Given the description of an element on the screen output the (x, y) to click on. 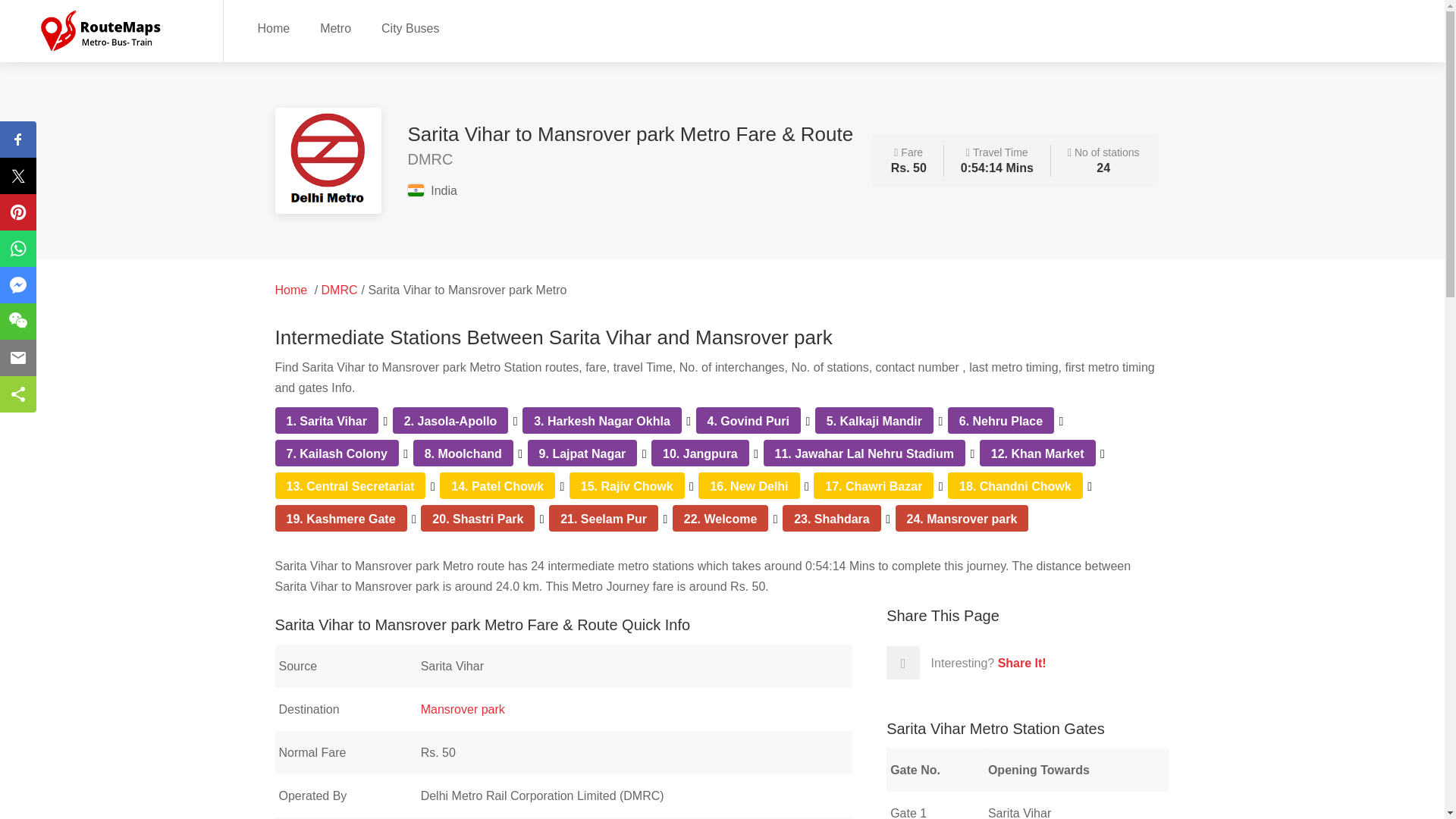
11. Jawahar Lal Nehru Stadium (864, 453)
17. Chawri Bazar (873, 486)
Home (273, 28)
16. New Delhi (748, 486)
14. Patel Chowk (497, 486)
Mansrover park (462, 708)
19. Kashmere Gate (341, 518)
9. Lajpat Nagar (582, 453)
Home (291, 289)
13. Central Secretariat (350, 486)
20. Shastri Park (477, 518)
10. Jangpura (700, 453)
23. Shahdara (831, 518)
6. Nehru Place (1000, 420)
21. Seelam Pur (603, 518)
